Given the description of an element on the screen output the (x, y) to click on. 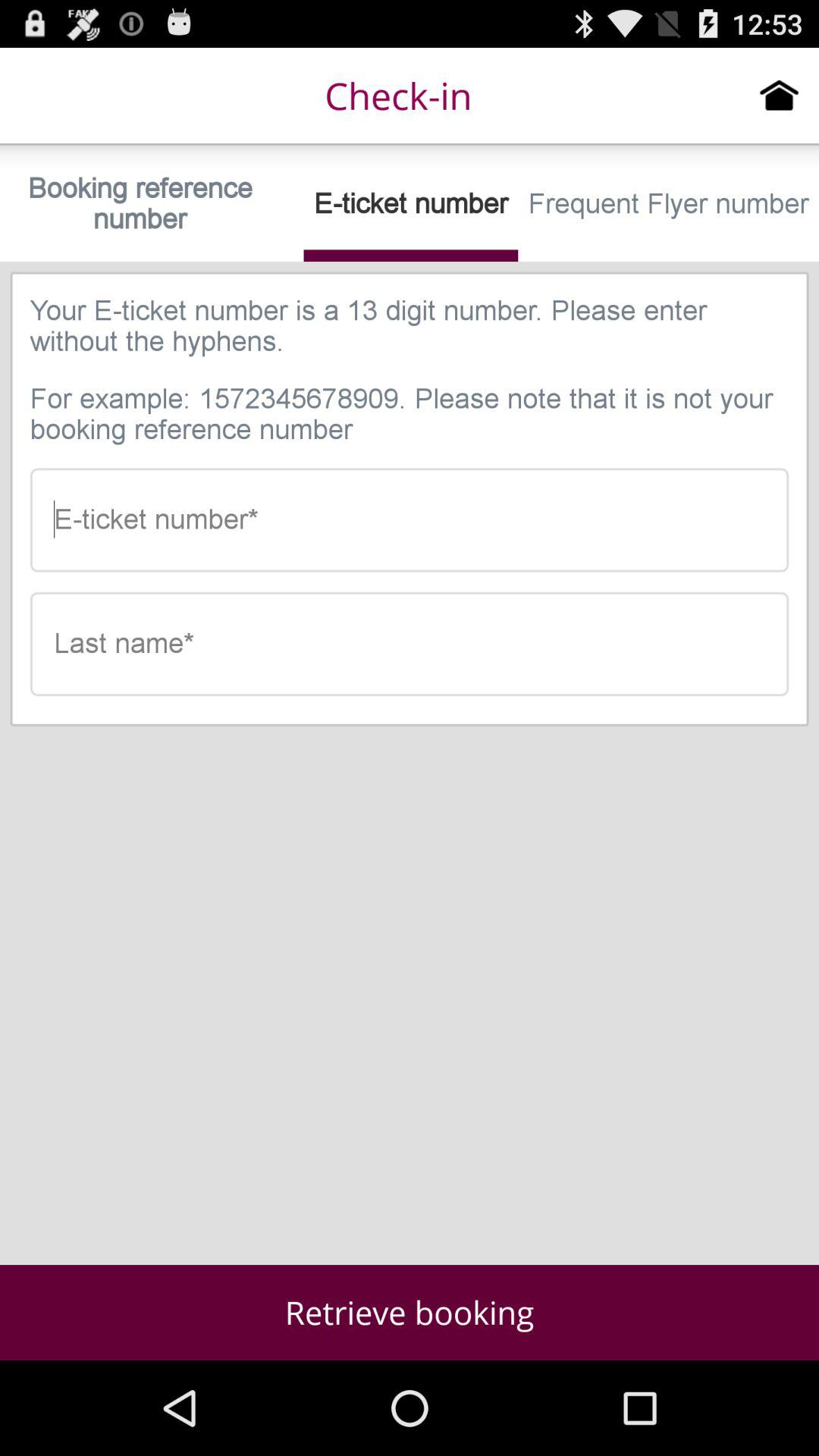
open the retrieve booking (409, 1312)
